Given the description of an element on the screen output the (x, y) to click on. 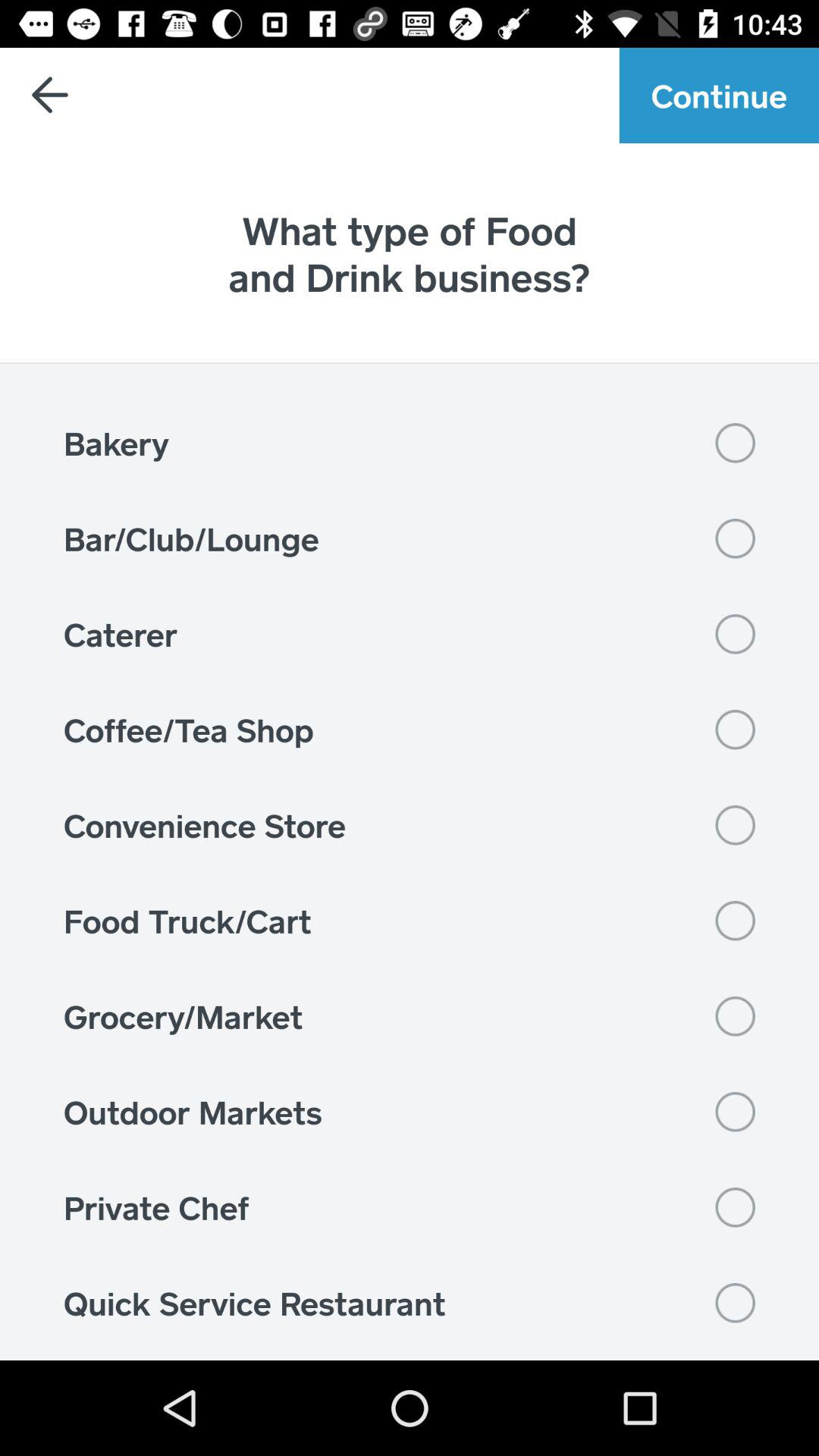
choose the item below the grocery/market icon (409, 1111)
